Given the description of an element on the screen output the (x, y) to click on. 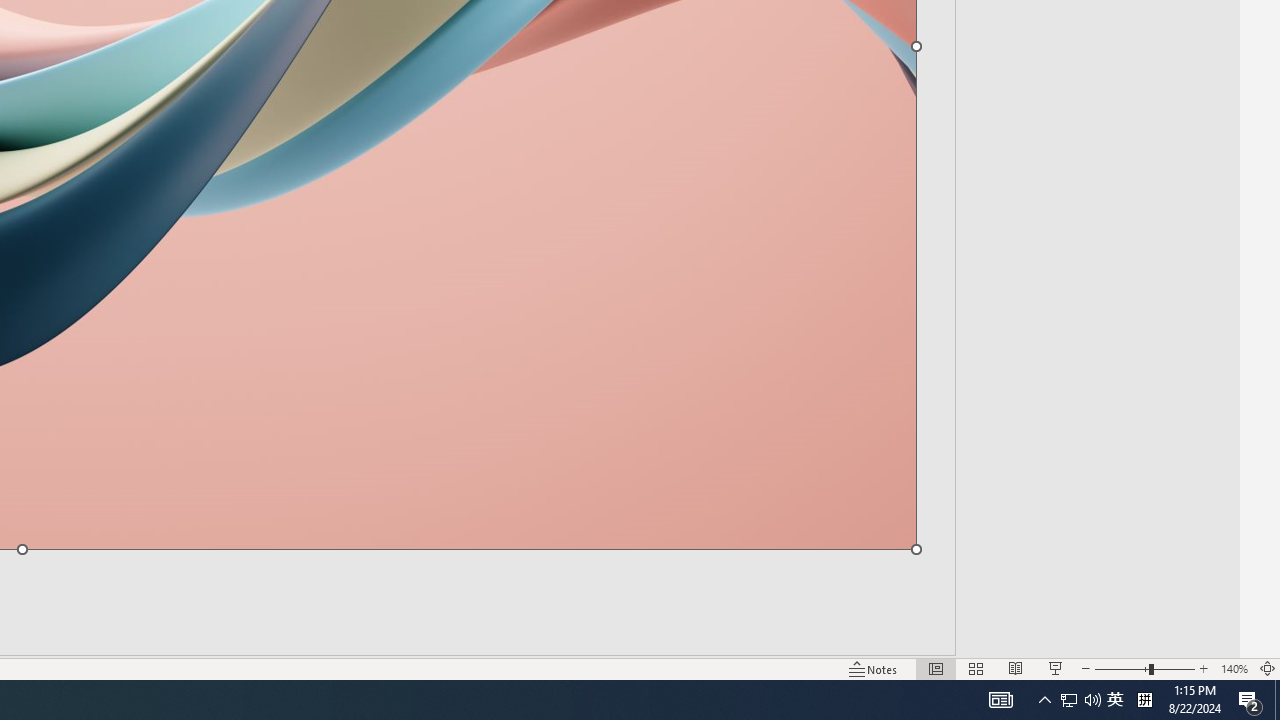
Zoom 140% (1234, 668)
